Given the description of an element on the screen output the (x, y) to click on. 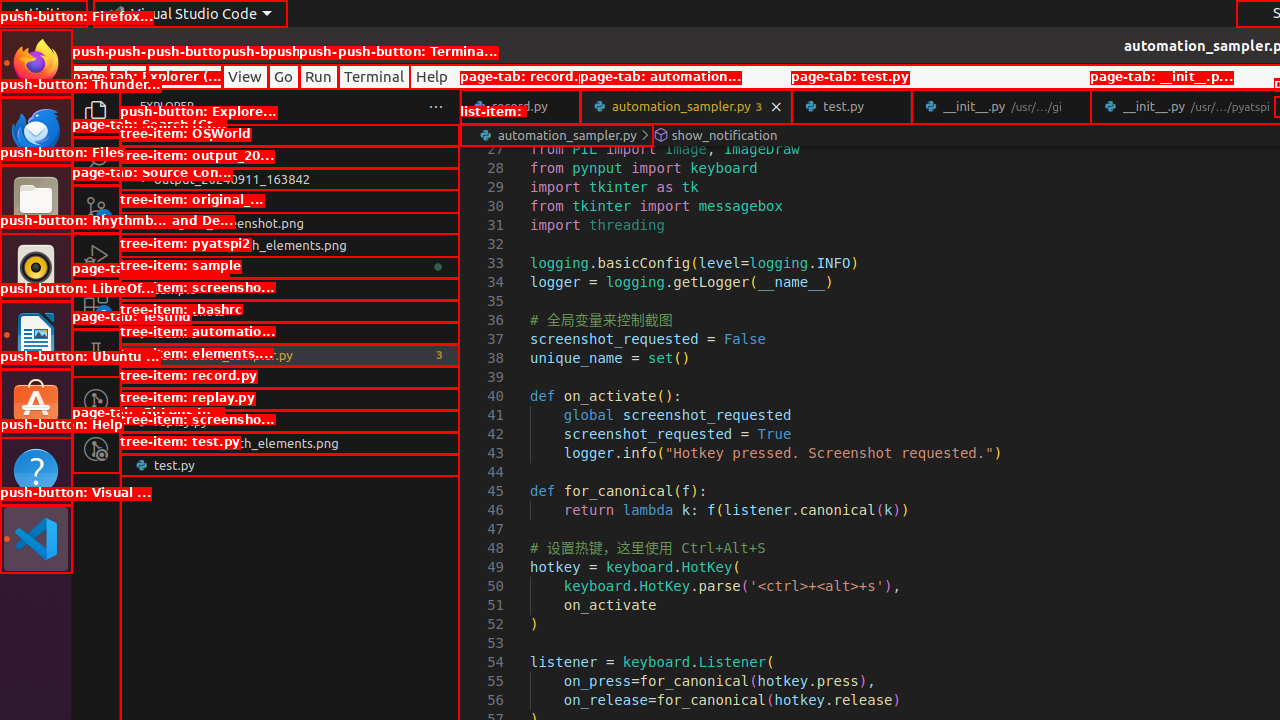
sample Element type: tree-item (289, 289)
elements.json Element type: tree-item (289, 377)
Explorer Section: osworld Element type: push-button (289, 135)
